Given the description of an element on the screen output the (x, y) to click on. 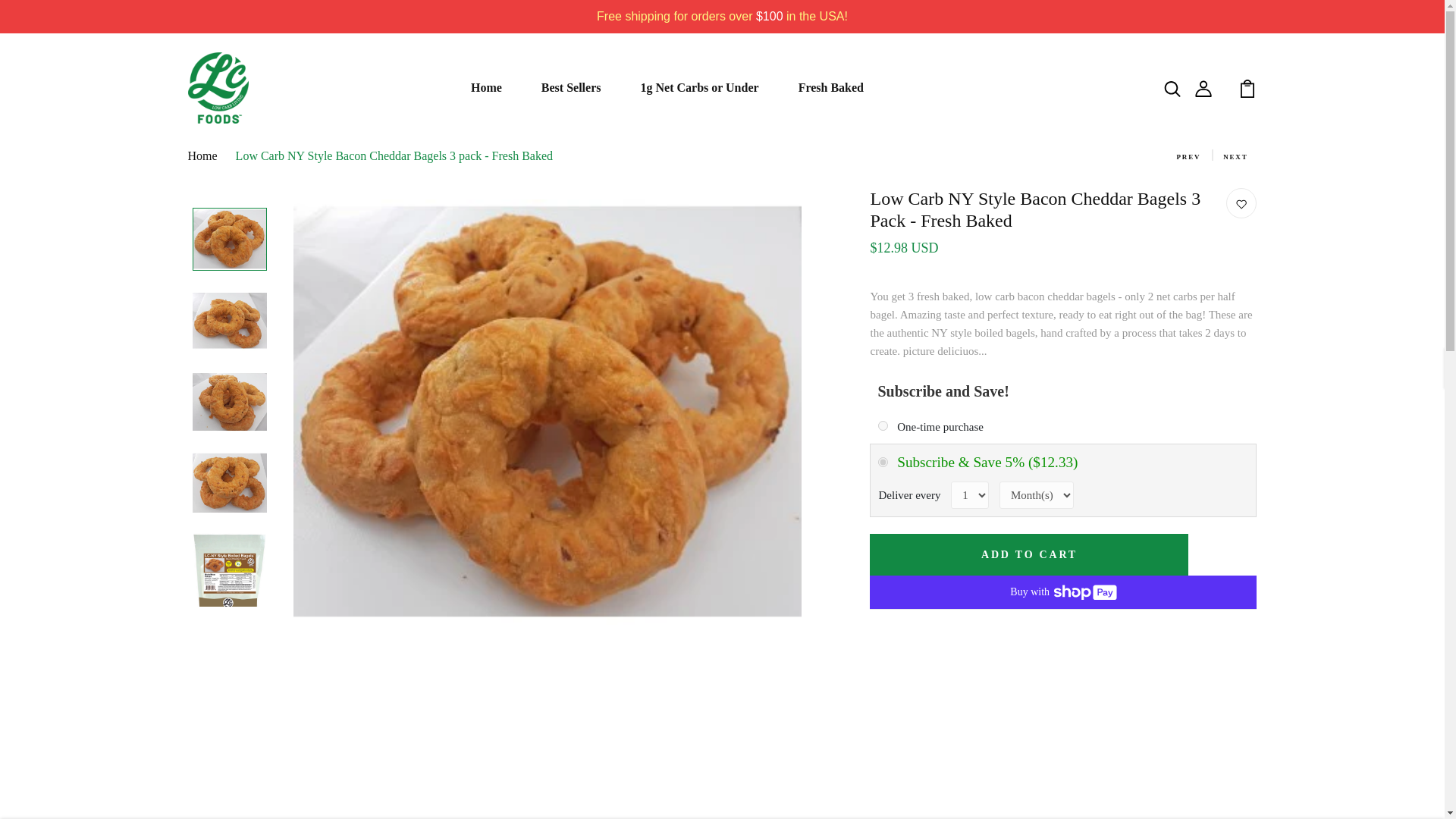
1g Net Carbs or Under (698, 87)
2 (882, 461)
Home (486, 87)
Back to the frontpage (209, 155)
Fresh Baked (830, 87)
Fresh Baked (830, 87)
Best Sellers (571, 87)
1g Net Carbs or Under (698, 87)
0 (882, 425)
Best Sellers (571, 87)
Home (486, 87)
